Given the description of an element on the screen output the (x, y) to click on. 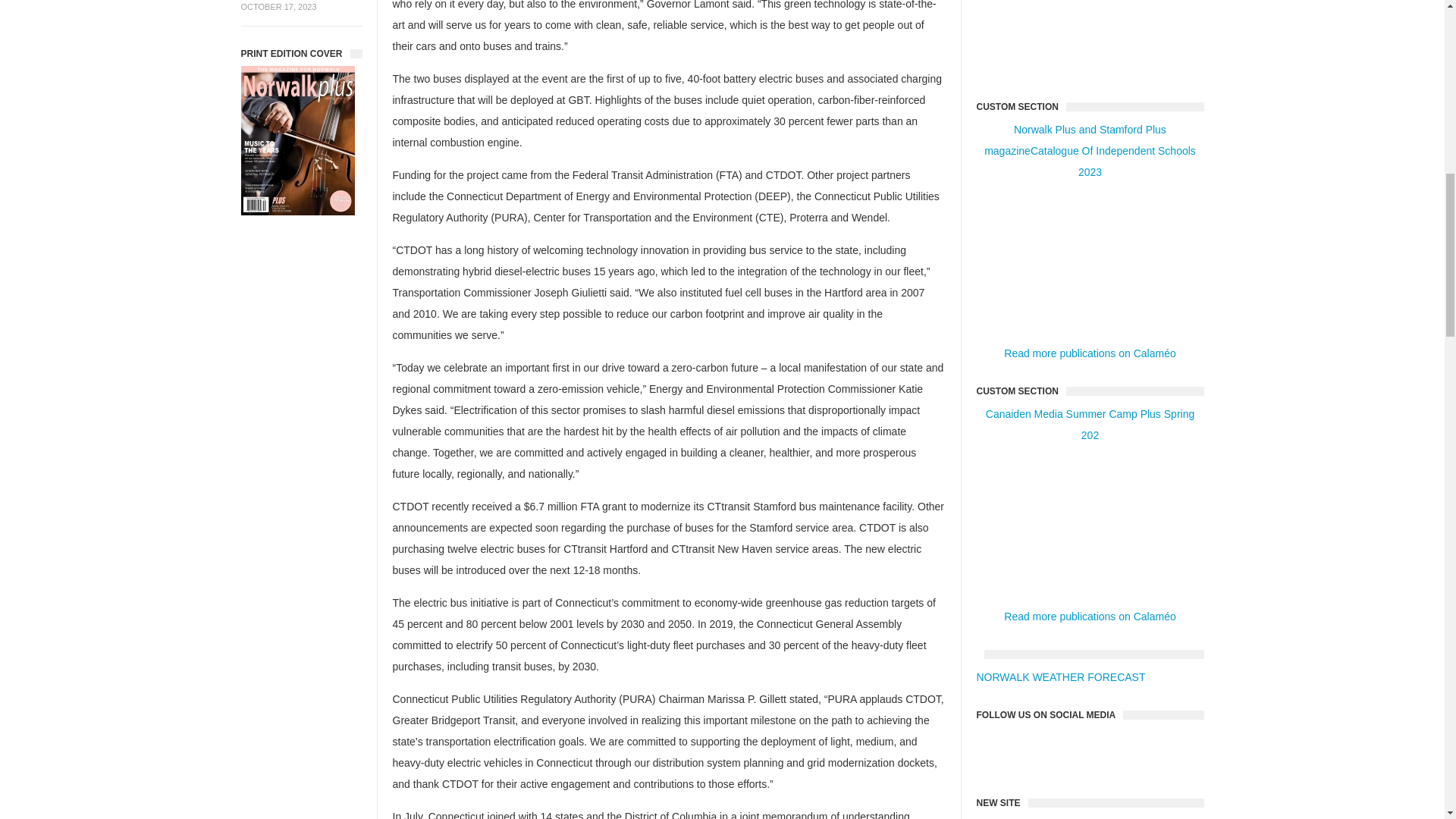
Advertisement (1090, 39)
Facebook (1065, 751)
Twitter (1115, 751)
